Given the description of an element on the screen output the (x, y) to click on. 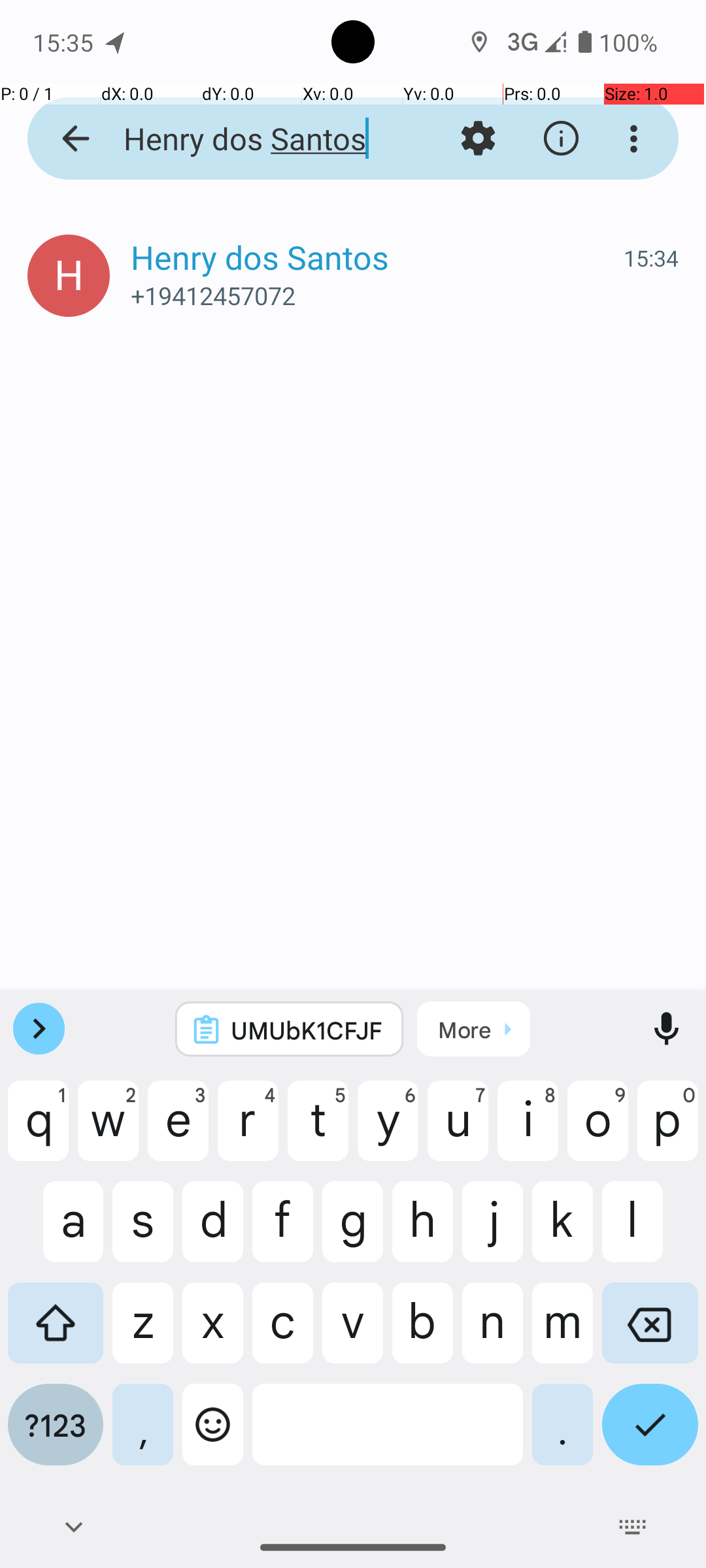
Henry dos Santos Element type: android.widget.EditText (252, 138)
+19412457072 Element type: android.widget.TextView (404, 295)
Draft Element type: android.widget.TextView (160, 281)
Hey, how are you today? Element type: android.widget.TextView (437, 281)
